Given the description of an element on the screen output the (x, y) to click on. 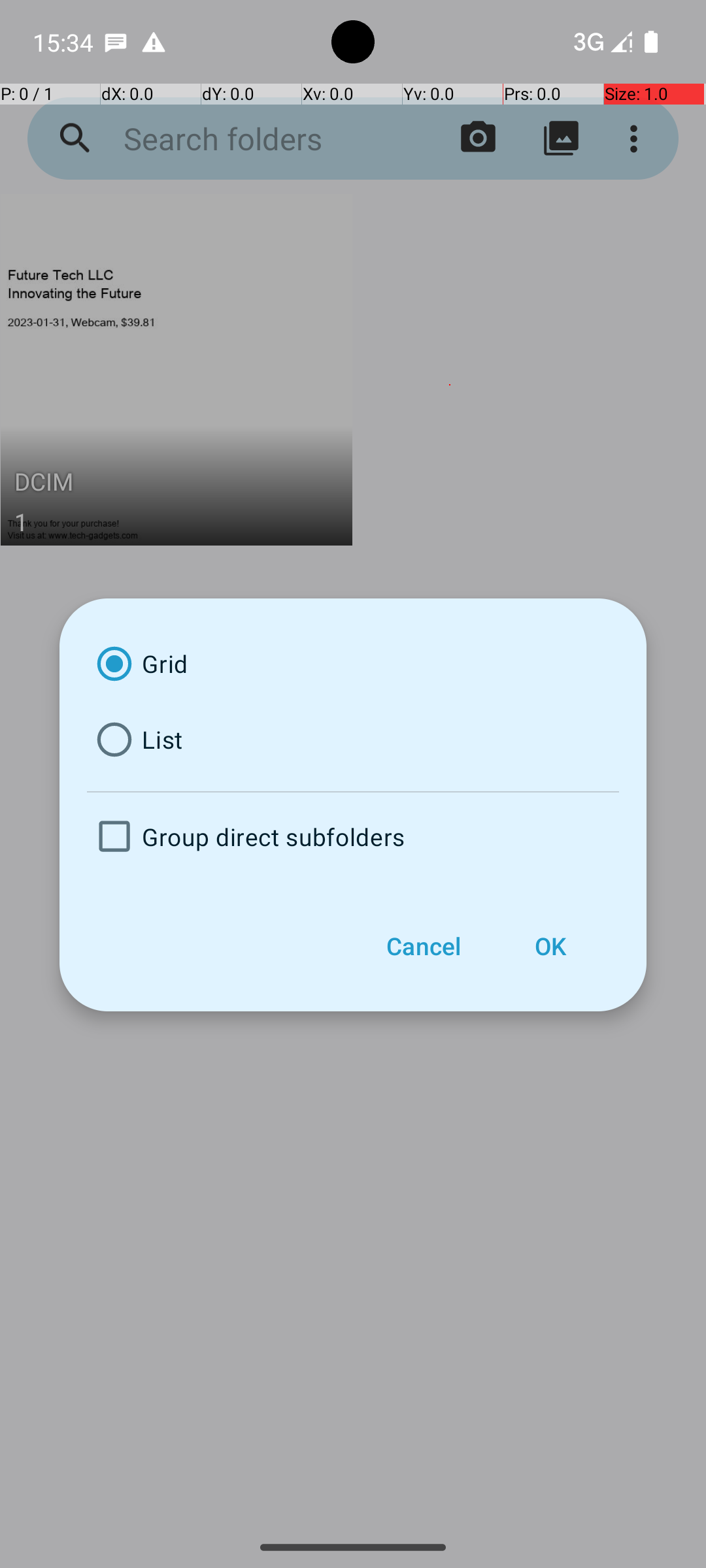
Group direct subfolders Element type: android.widget.CheckBox (352, 836)
Grid Element type: android.widget.RadioButton (352, 663)
List Element type: android.widget.RadioButton (352, 739)
